Given the description of an element on the screen output the (x, y) to click on. 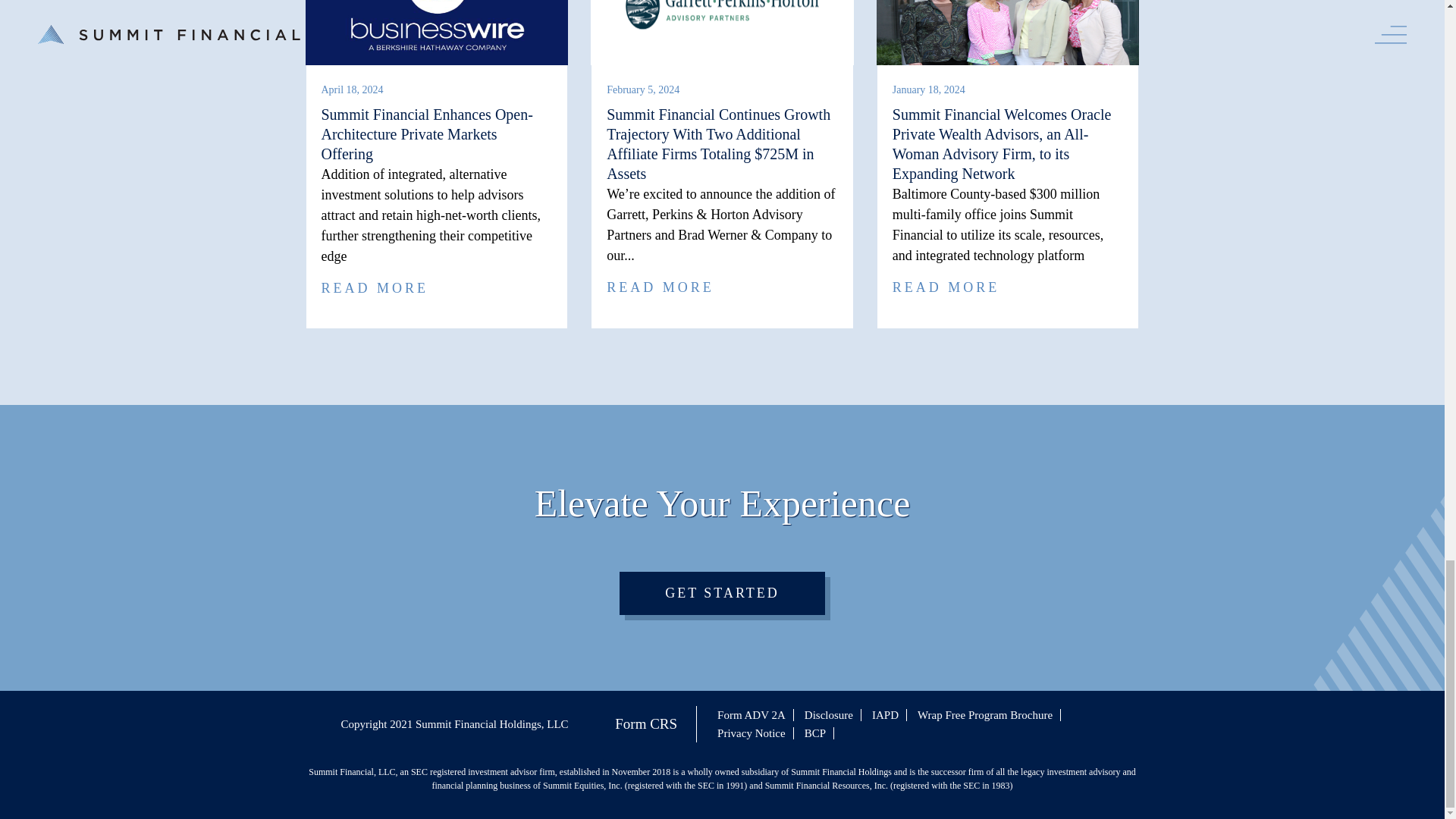
READ MORE (946, 287)
GET STARTED (722, 593)
READ MORE (375, 287)
READ MORE (660, 287)
